Given the description of an element on the screen output the (x, y) to click on. 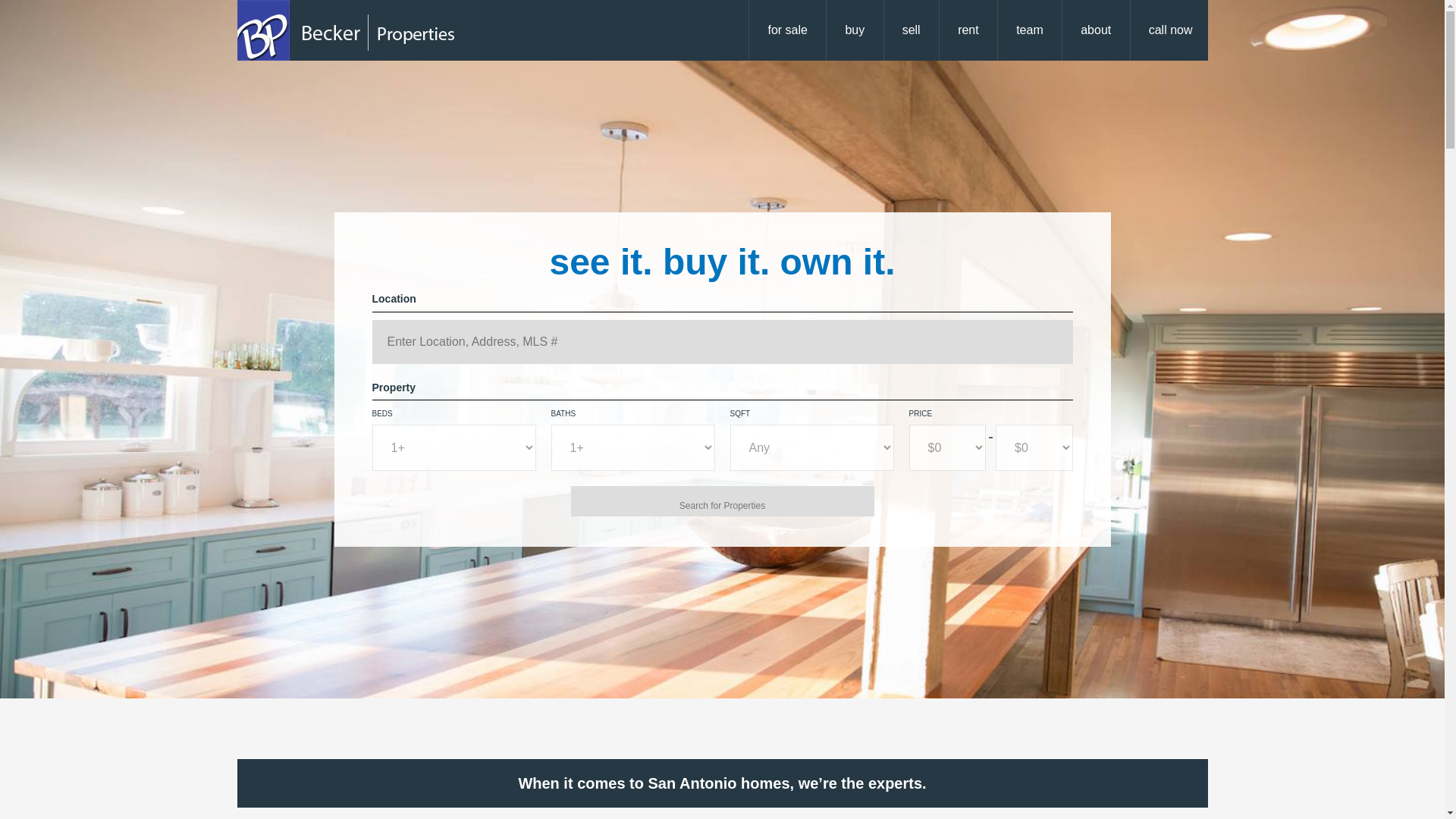
team (1029, 30)
about (1095, 30)
sell (911, 30)
Becker Properties (357, 30)
buy (853, 30)
rent (968, 30)
for sale (786, 30)
